Given the description of an element on the screen output the (x, y) to click on. 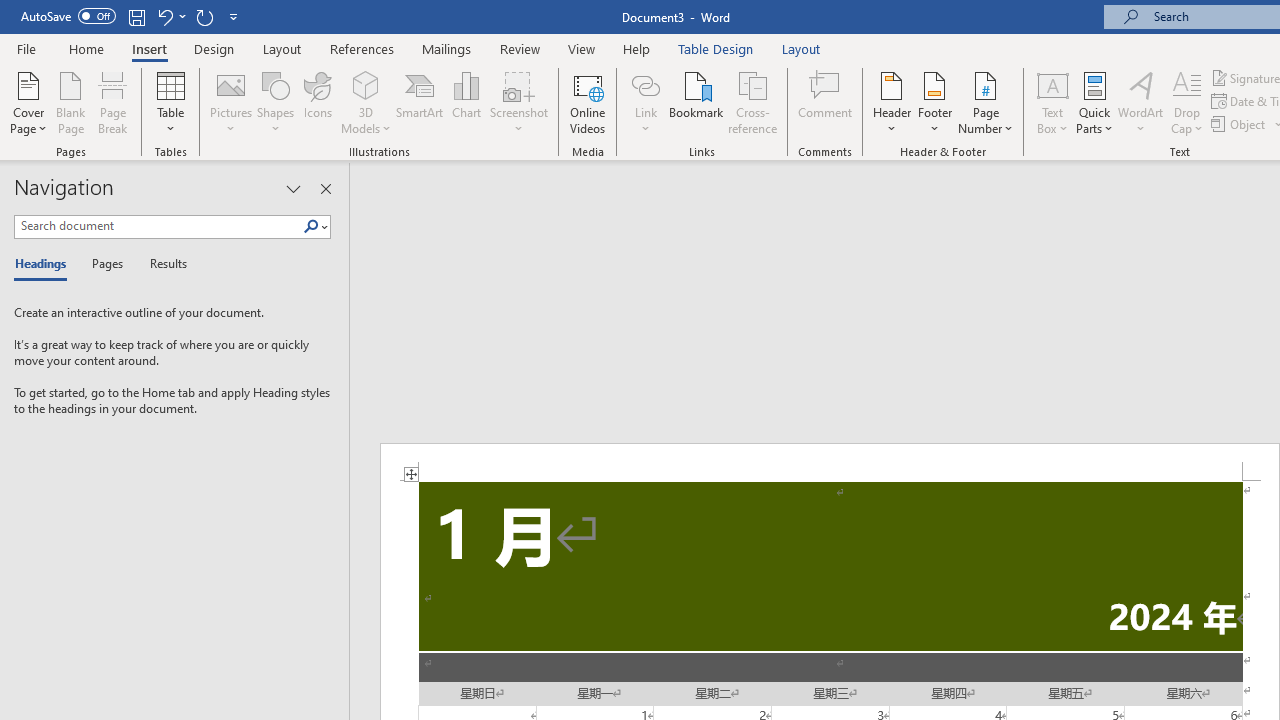
WordArt (1141, 102)
Help (637, 48)
Page Break (113, 102)
Task Pane Options (293, 188)
Layout (801, 48)
AutoSave (68, 16)
Undo Increase Indent (170, 15)
Table Design (715, 48)
File Tab (26, 48)
Cross-reference... (752, 102)
Headings (45, 264)
Quick Parts (1094, 102)
Design (214, 48)
